Given the description of an element on the screen output the (x, y) to click on. 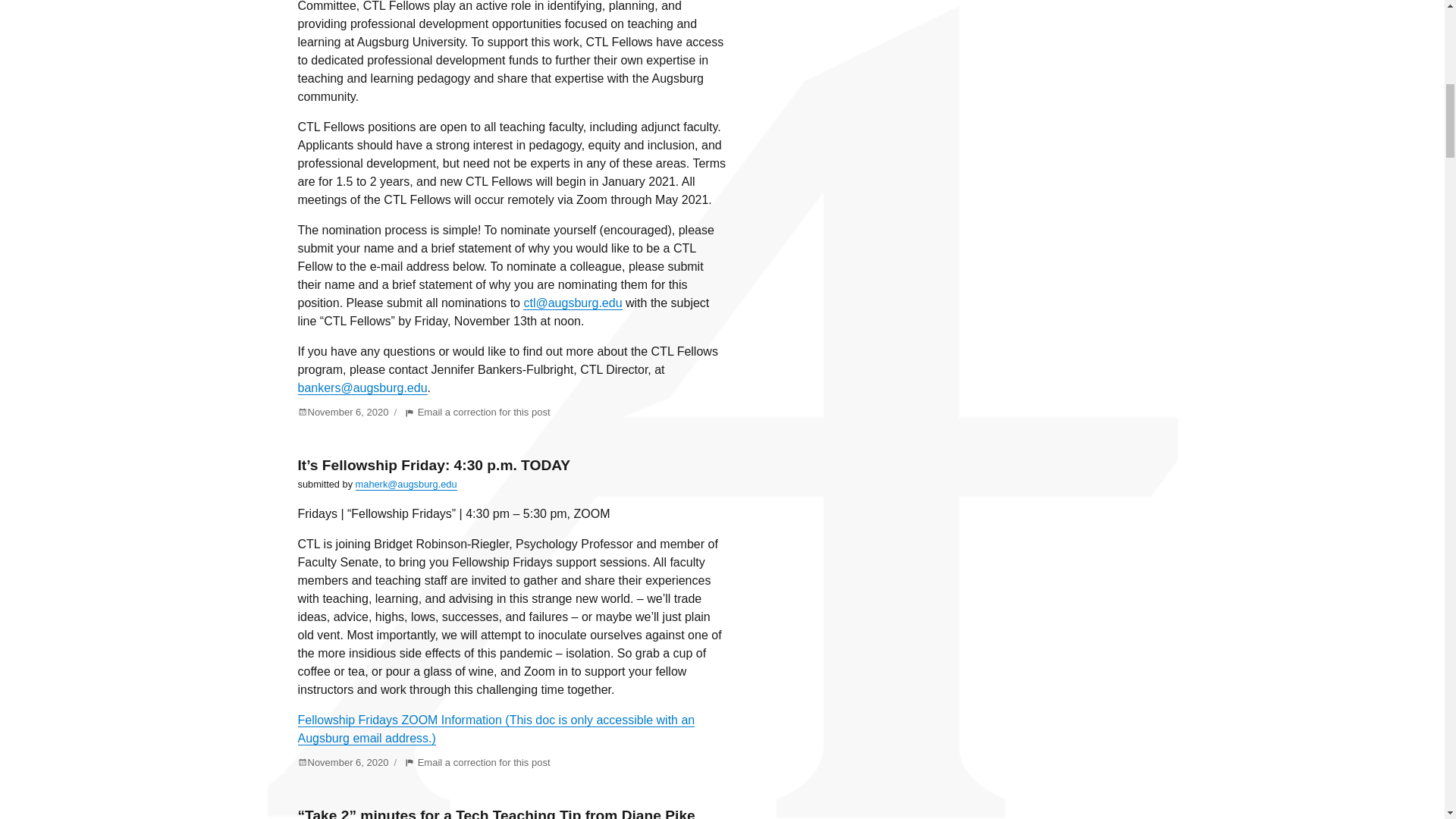
November 6, 2020 (342, 411)
November 6, 2020 (477, 411)
